Given the description of an element on the screen output the (x, y) to click on. 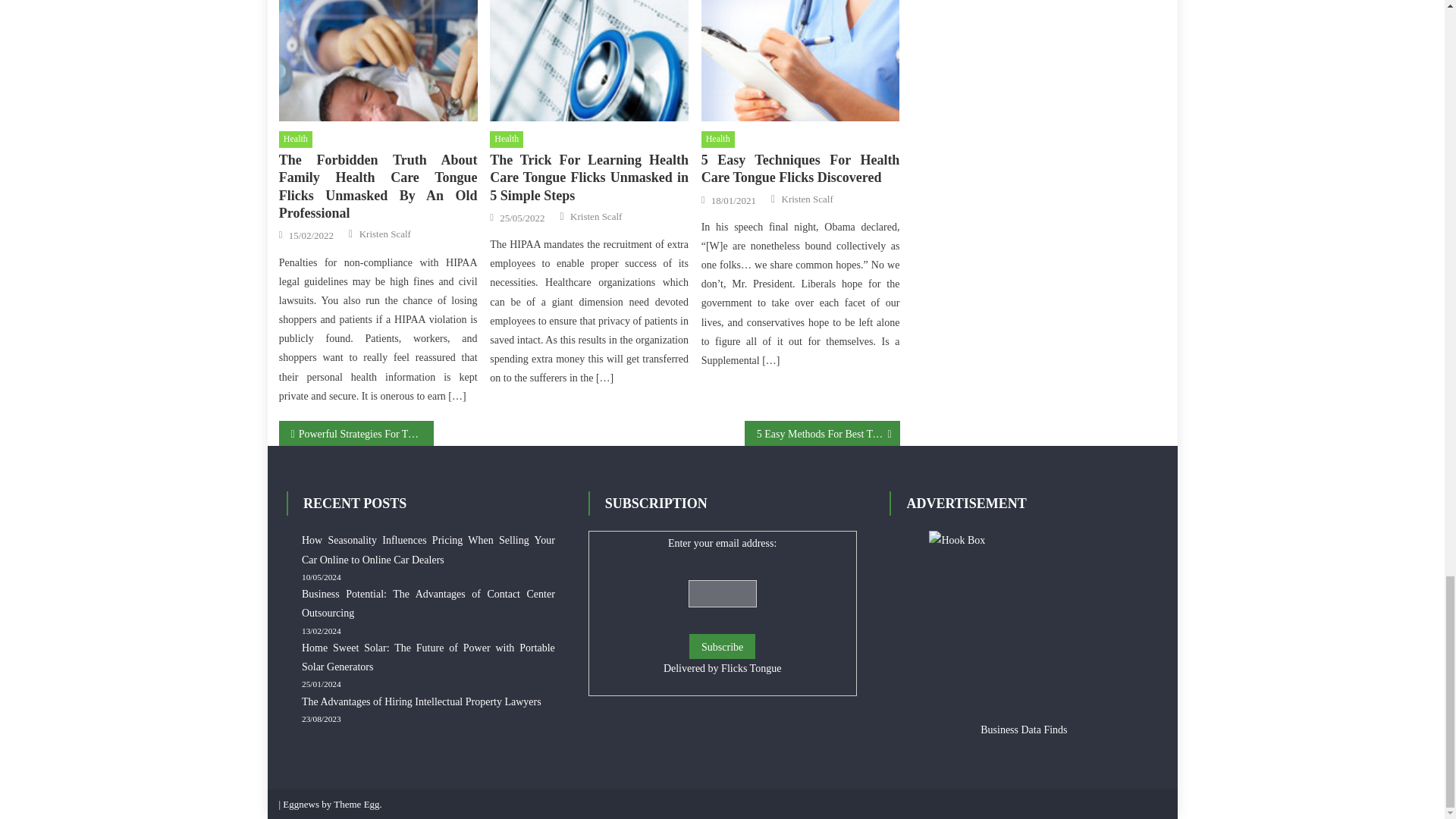
Health (505, 139)
Health (718, 139)
Health (296, 139)
Kristen Scalf (595, 216)
5 Easy Techniques For Health Care Tongue Flicks Discovered (800, 61)
Kristen Scalf (384, 233)
5 Easy Techniques For Health Care Tongue Flicks Discovered (800, 169)
Subscribe (721, 646)
